Given the description of an element on the screen output the (x, y) to click on. 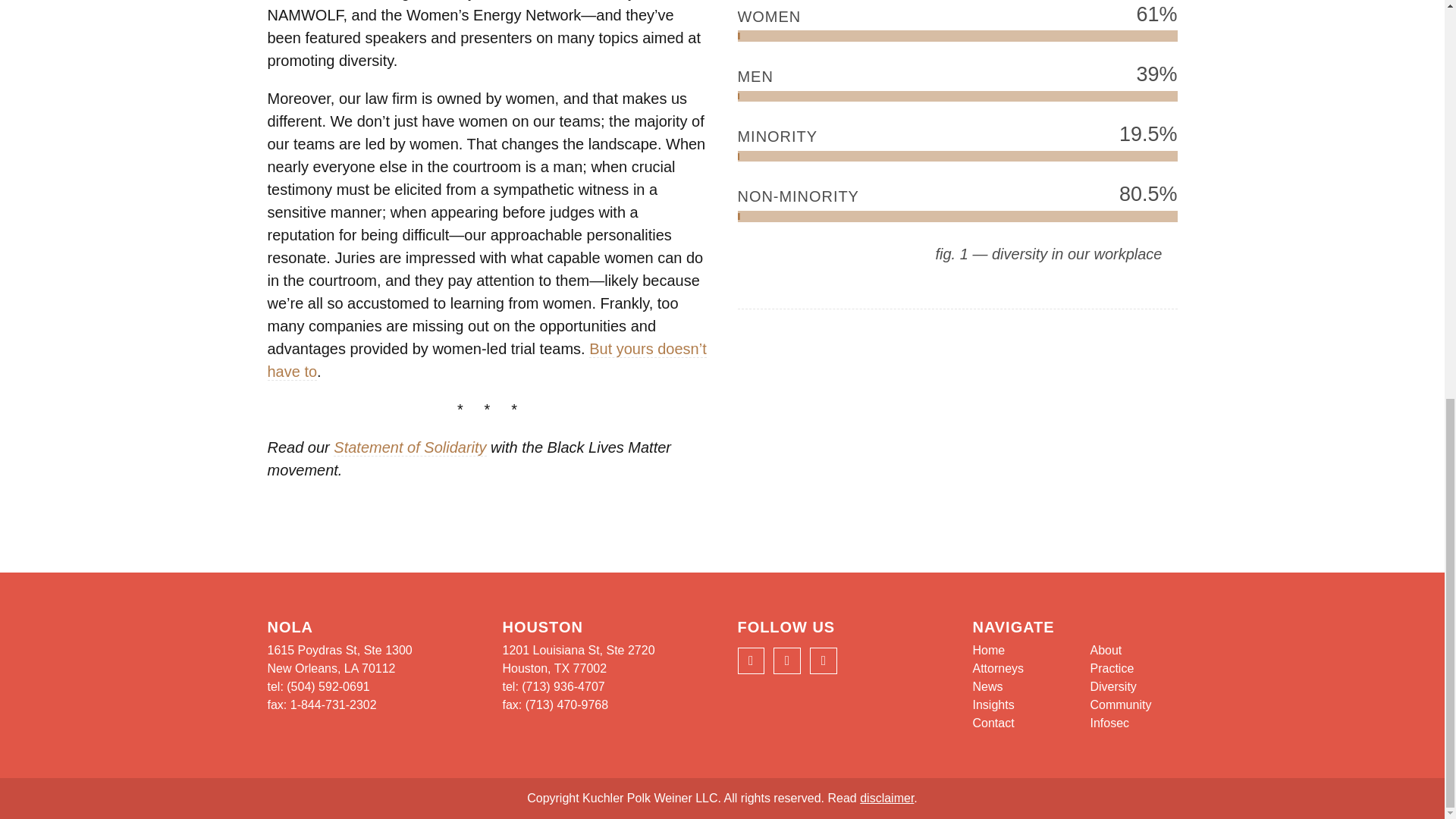
About (1106, 649)
Insights (992, 704)
Community (1120, 704)
Infosec (1109, 722)
Practice (1112, 667)
Statement of Solidarity (409, 447)
Contact (992, 722)
Home (988, 649)
Diversity (1113, 686)
News (987, 686)
